Given the description of an element on the screen output the (x, y) to click on. 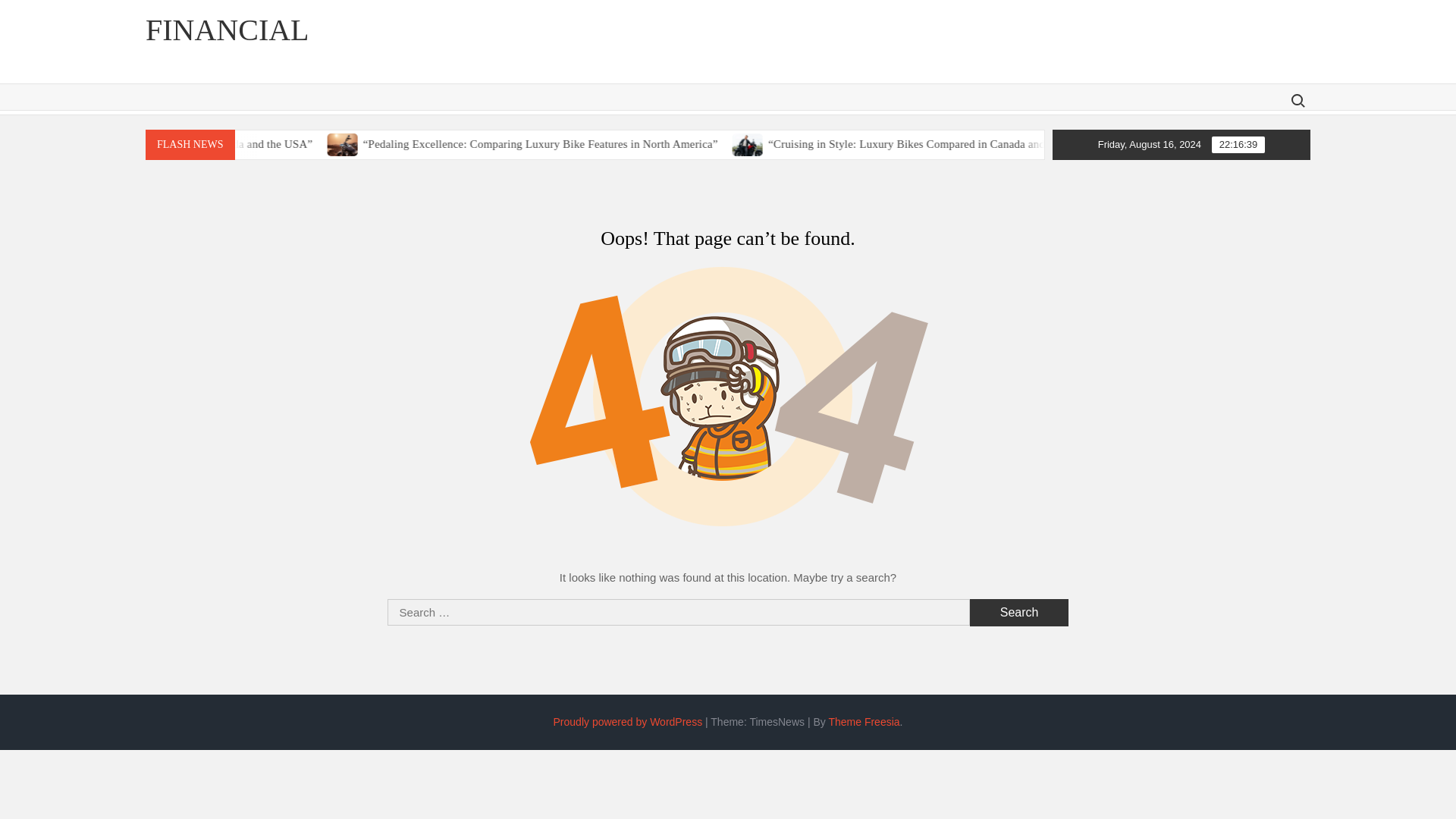
Search for: (1297, 100)
FINANCIAL (226, 29)
Search (1018, 612)
Search (1018, 612)
